Given the description of an element on the screen output the (x, y) to click on. 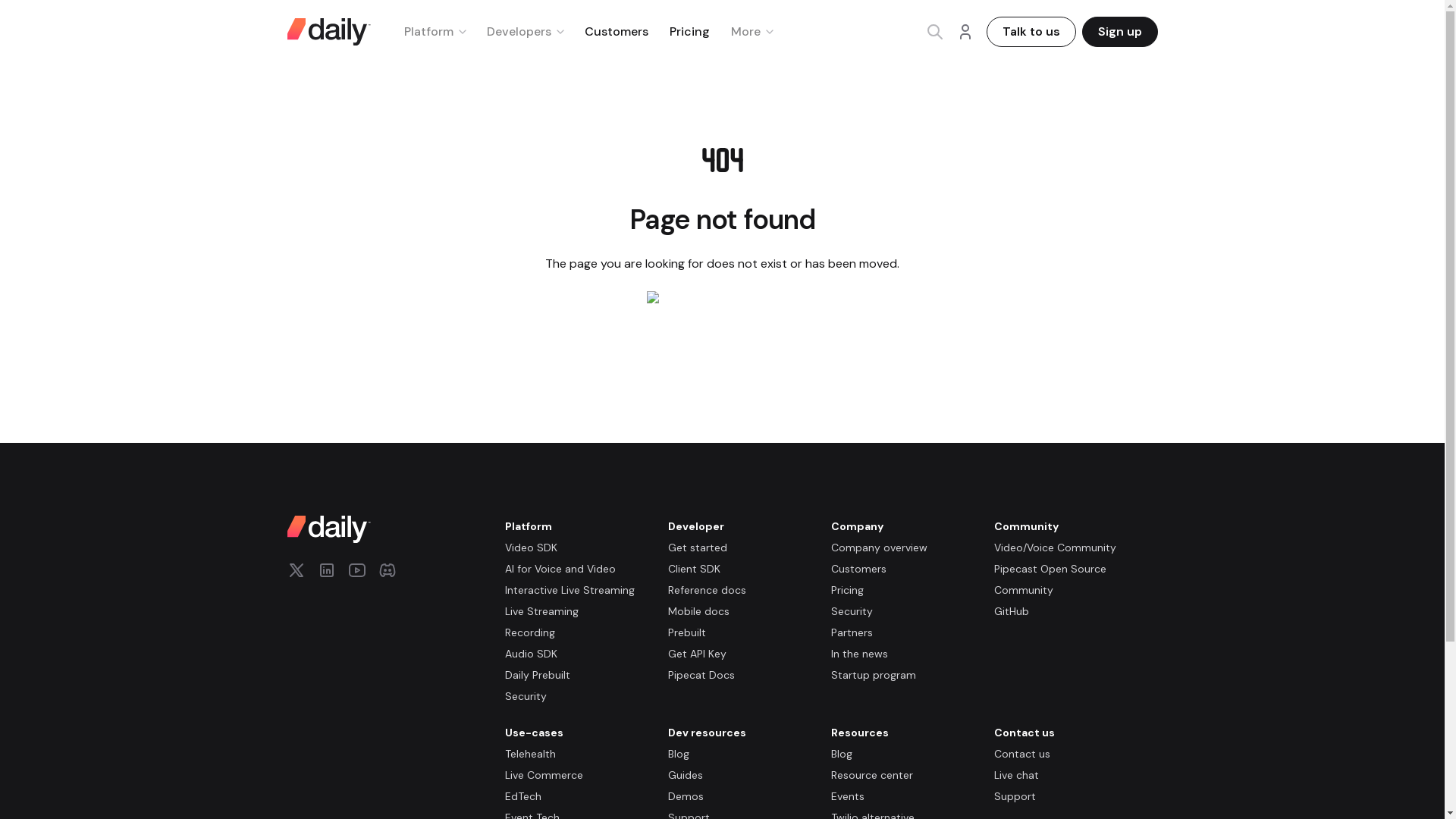
Customers (615, 31)
LinkedIn (325, 570)
Video SDK (531, 547)
Pricing (847, 590)
Sign up (1119, 31)
Security (851, 611)
Twitter (295, 570)
Startup program (873, 674)
AI for Voice and Video (560, 568)
Recording (529, 632)
